Given the description of an element on the screen output the (x, y) to click on. 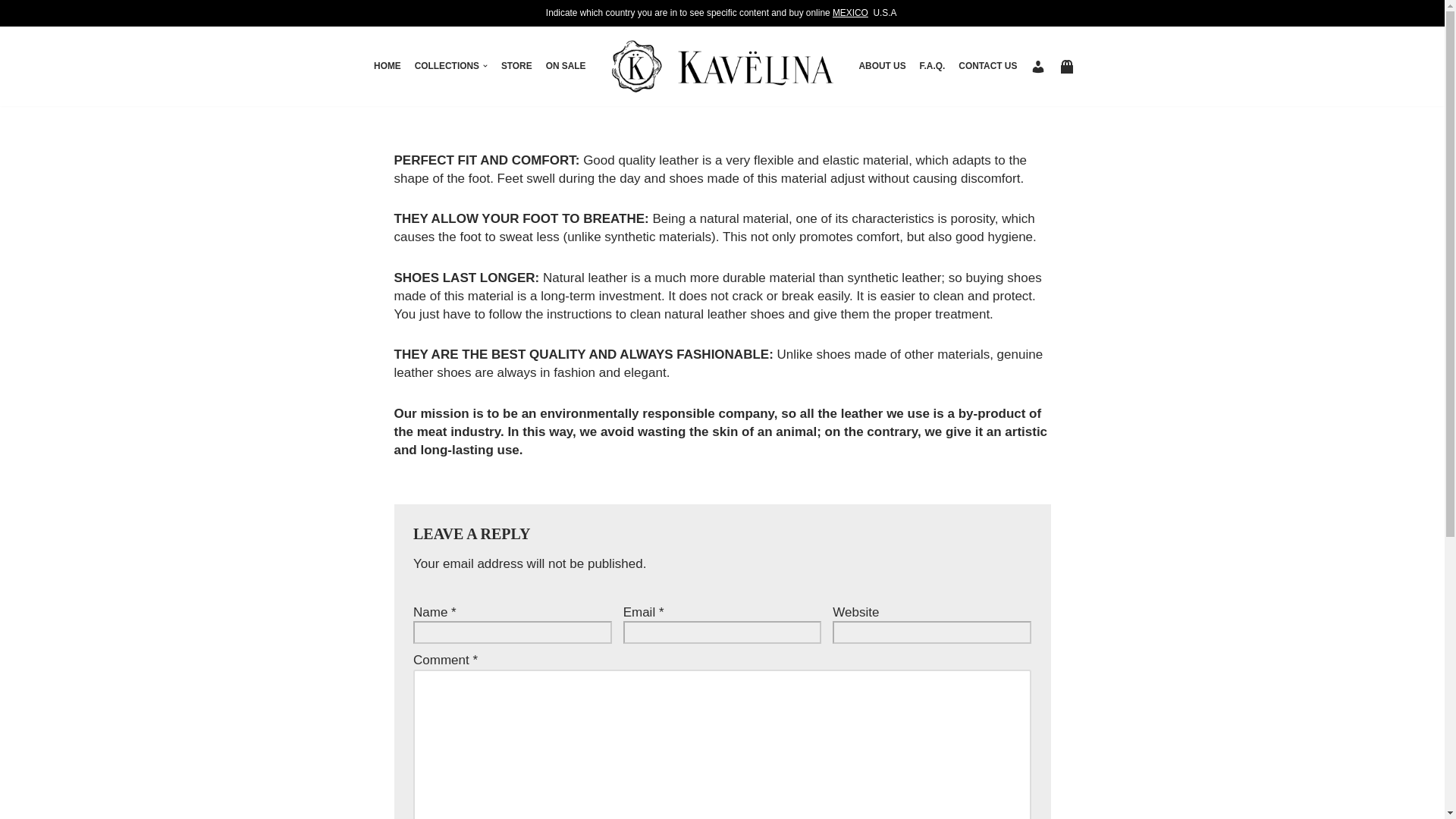
ON SALE (566, 66)
MEXICO (849, 12)
Skip to content (11, 31)
F.A.Q. (932, 66)
ABOUT US (882, 66)
HOME (387, 66)
COLLECTIONS (446, 66)
CONTACT US (987, 66)
STORE (516, 66)
